Given the description of an element on the screen output the (x, y) to click on. 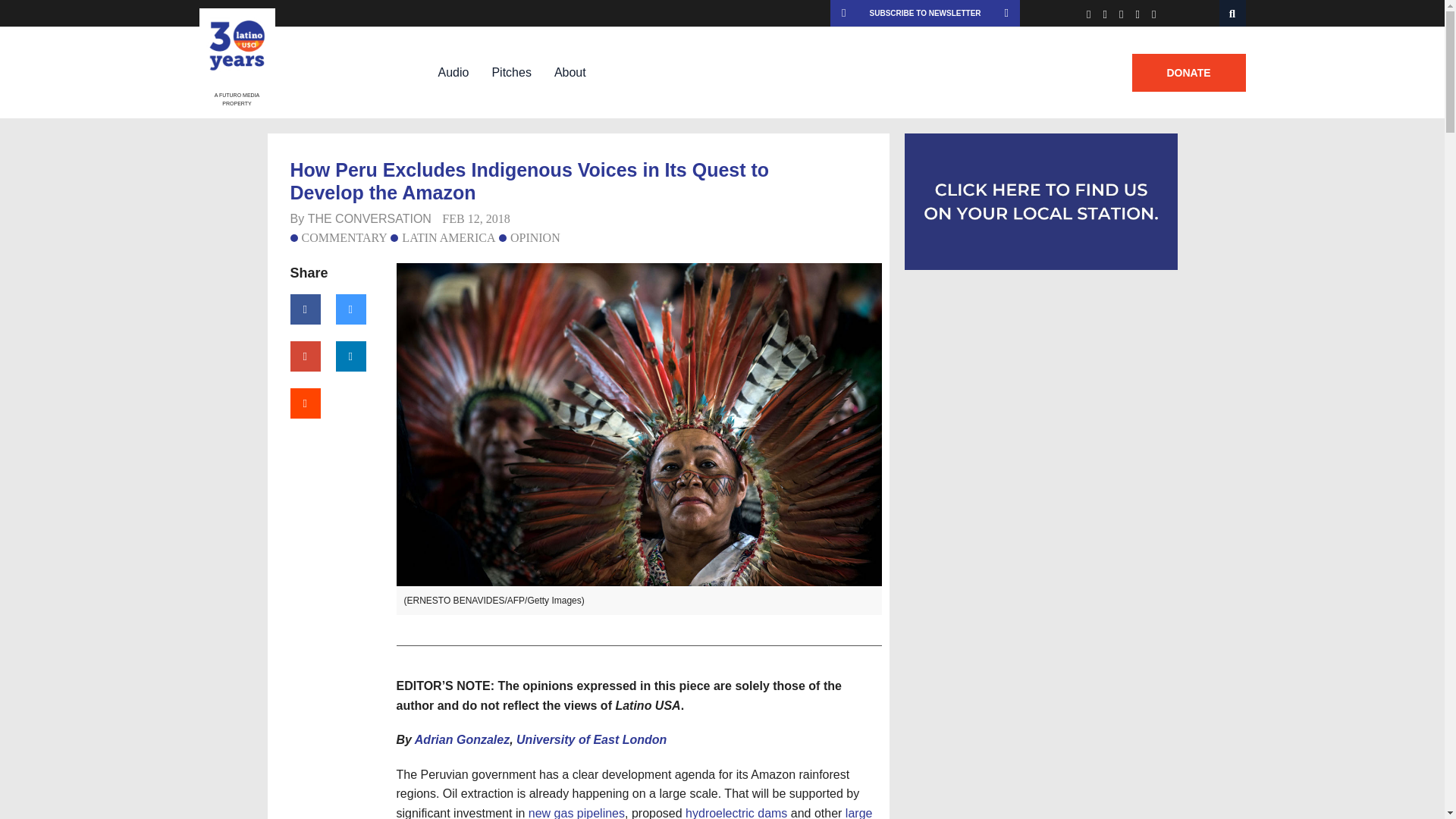
hydroelectric dams (736, 812)
large transport projects (634, 812)
DONATE (1187, 72)
Adrian Gonzalez (461, 739)
THE CONVERSATION (368, 218)
Pitches (510, 72)
About (569, 72)
COMMENTARY (338, 237)
new gas pipelines (576, 812)
Search (1233, 13)
University of East London (591, 739)
Search (1233, 13)
Subscribe to newsletter (924, 13)
Search (1233, 13)
OPINION (529, 237)
